Given the description of an element on the screen output the (x, y) to click on. 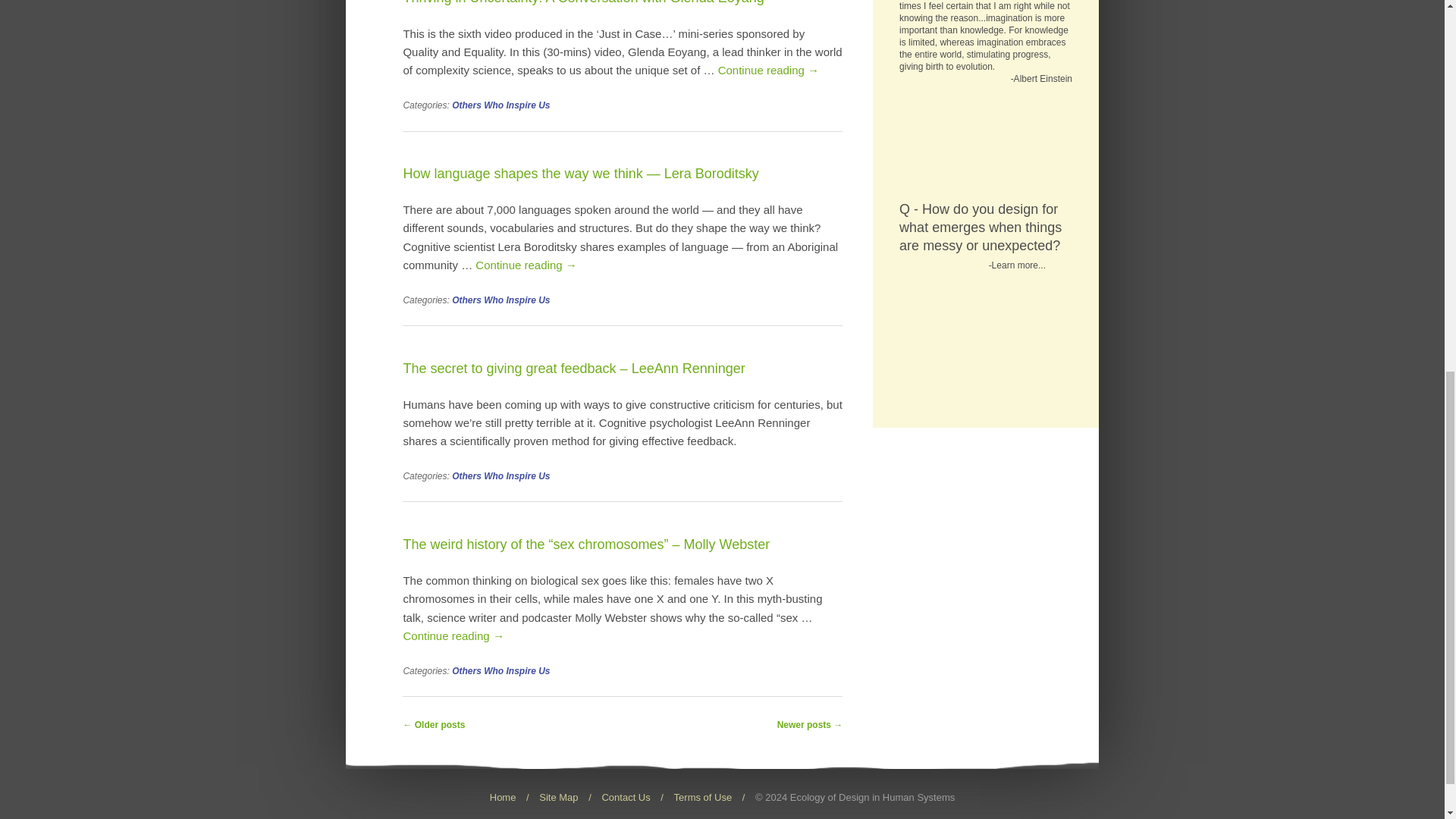
Thriving in Uncertainty: A Conversation with Glenda Eoyang (582, 10)
Others Who Inspire Us (500, 670)
Others Who Inspire Us (500, 299)
Others Who Inspire Us (500, 475)
Others Who Inspire Us (500, 104)
